Given the description of an element on the screen output the (x, y) to click on. 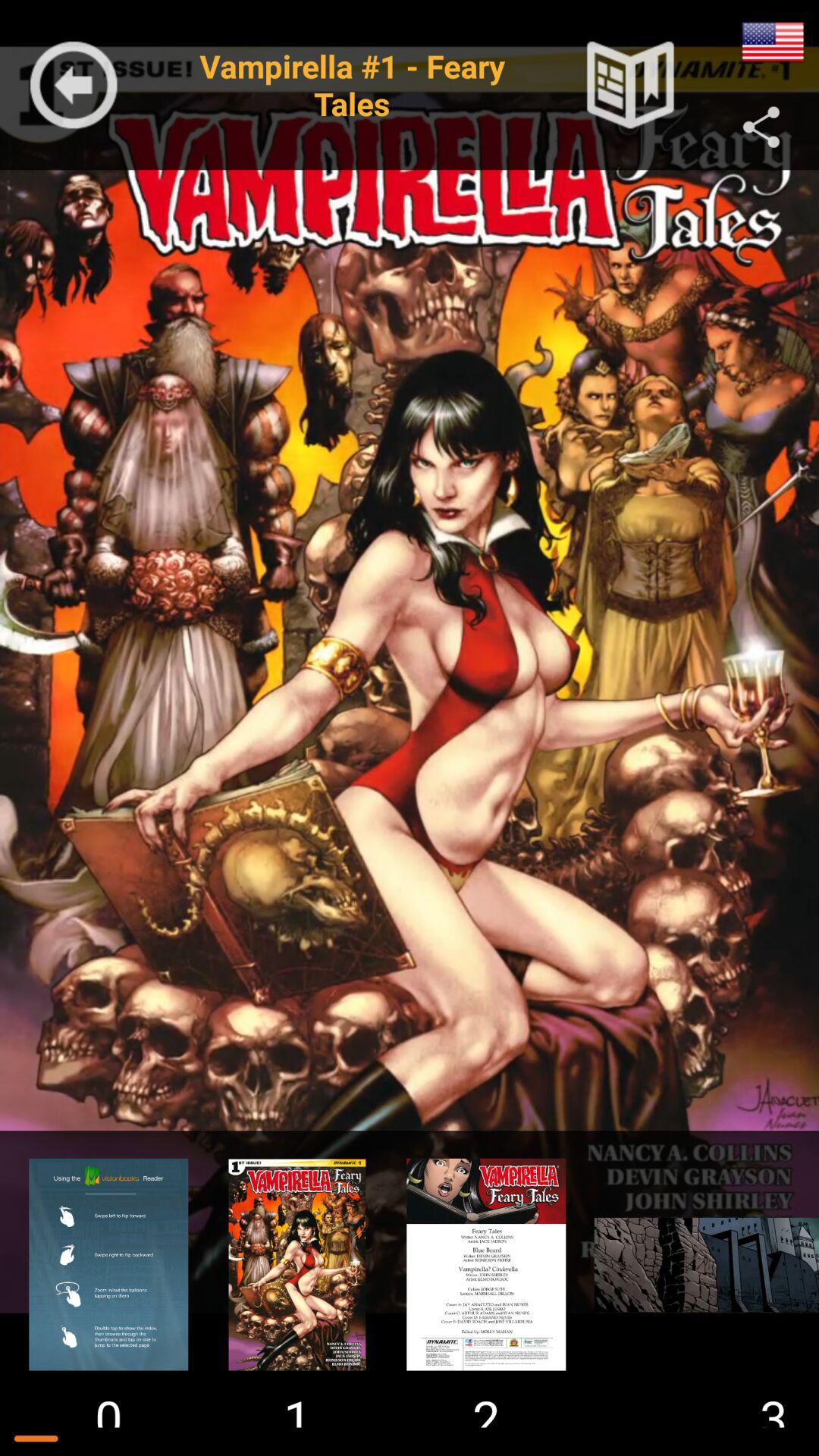
open help (108, 1264)
